Given the description of an element on the screen output the (x, y) to click on. 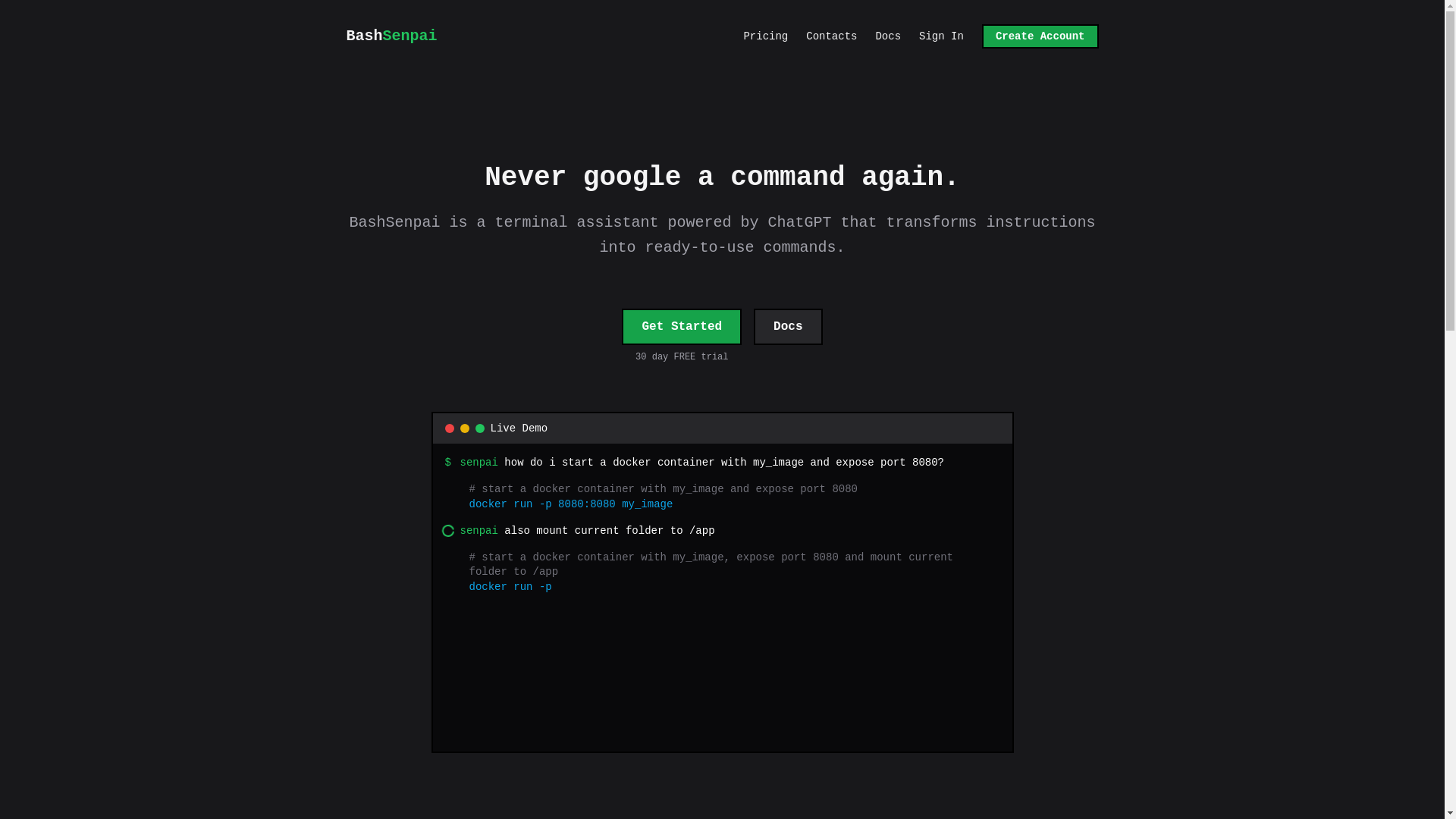
Pricing (764, 36)
Docs (391, 36)
Get Started (788, 326)
Sign In (681, 326)
Contacts (940, 36)
Create Account (831, 36)
